Given the description of an element on the screen output the (x, y) to click on. 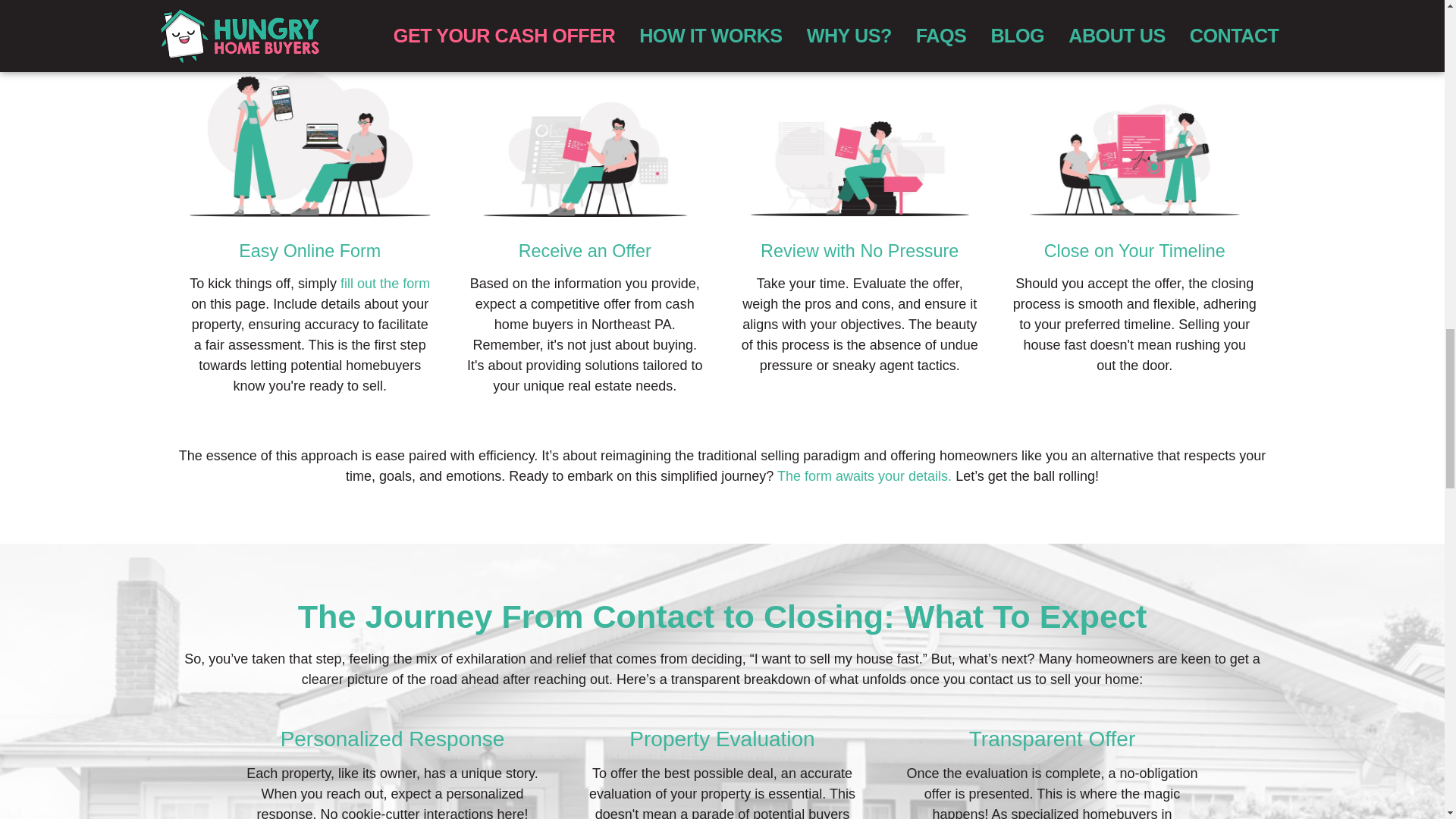
Get A Cash Offer For Your House (384, 283)
The form awaits your details. (864, 476)
Get A Cash Offer For Your House (864, 476)
fill out the form (384, 283)
